Given the description of an element on the screen output the (x, y) to click on. 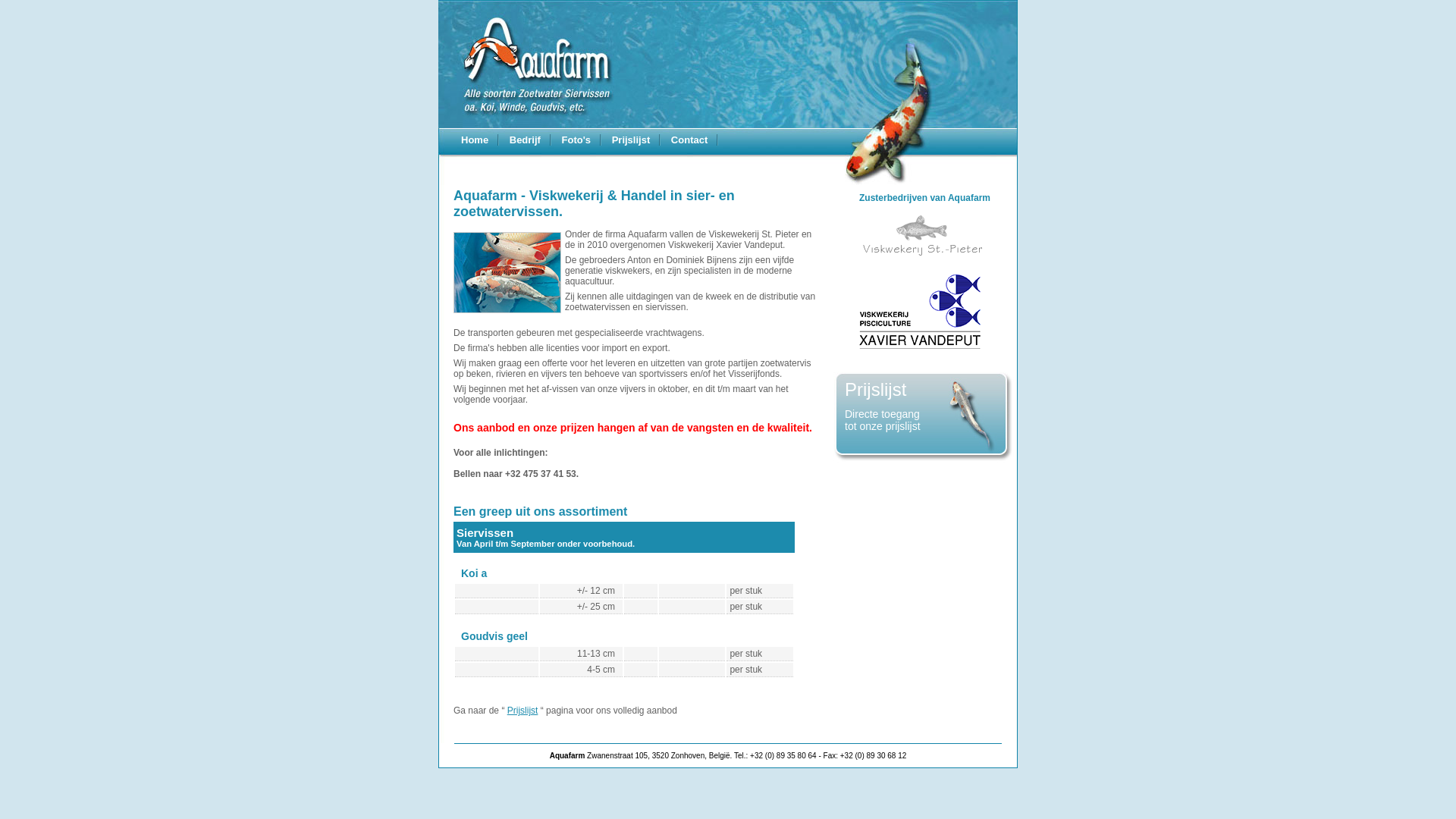
Bedrijf Element type: text (526, 139)
Contact Element type: text (690, 139)
Naar de Aquafarm Homepage Element type: hover (526, 64)
Foto's Element type: text (577, 139)
Prijslijst Element type: text (522, 710)
Prijslijst
Directe toegang
tot onze prijslijst Element type: text (924, 418)
Home Element type: text (475, 139)
Prijslijst Element type: text (632, 139)
